Given the description of an element on the screen output the (x, y) to click on. 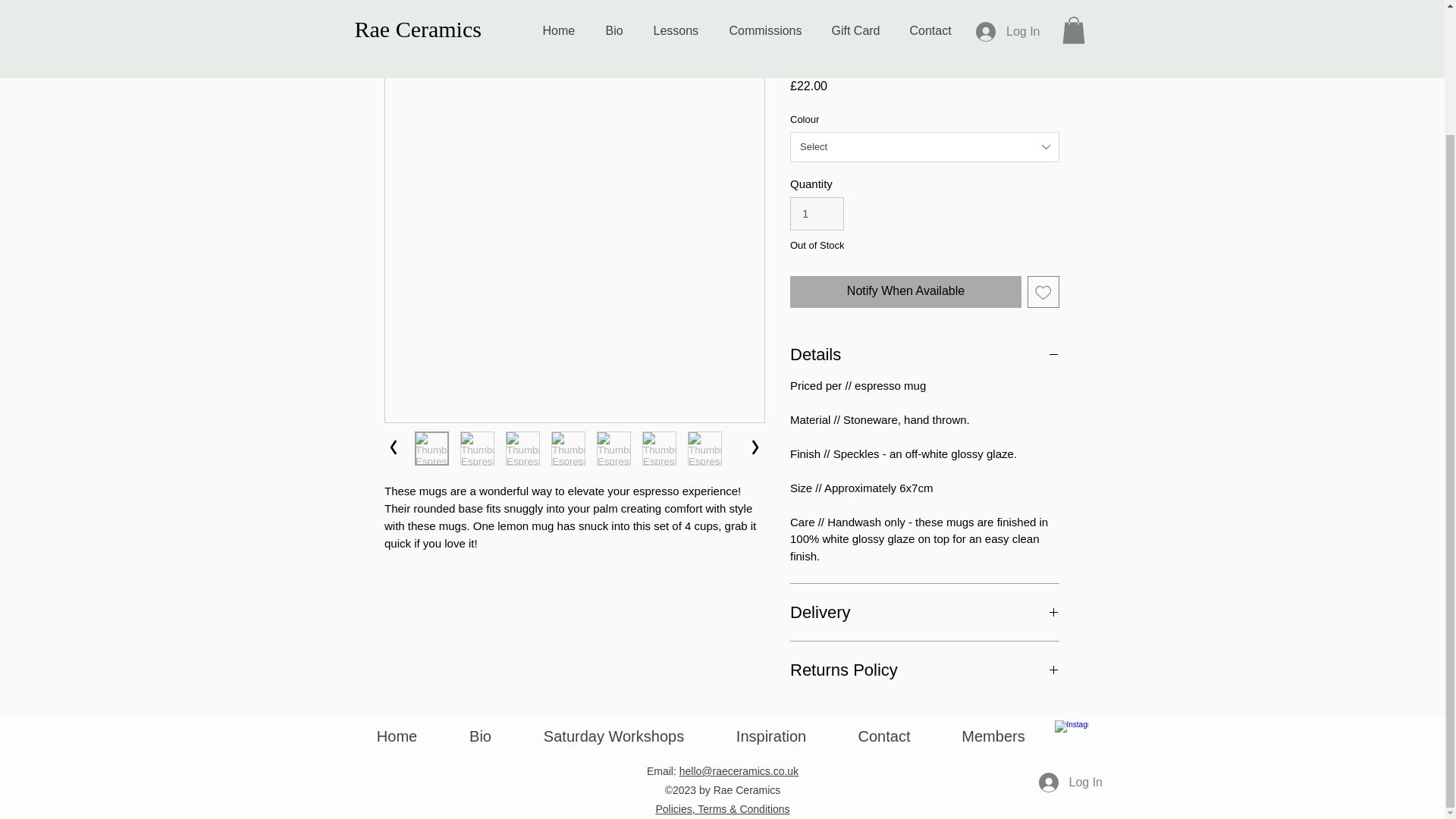
Delivery (924, 611)
Home (396, 736)
Select (924, 146)
Inspiration (770, 736)
Members (992, 736)
Bio (479, 736)
Log In (1060, 782)
Saturday Workshops (613, 736)
Details (924, 353)
Contact (884, 736)
